Given the description of an element on the screen output the (x, y) to click on. 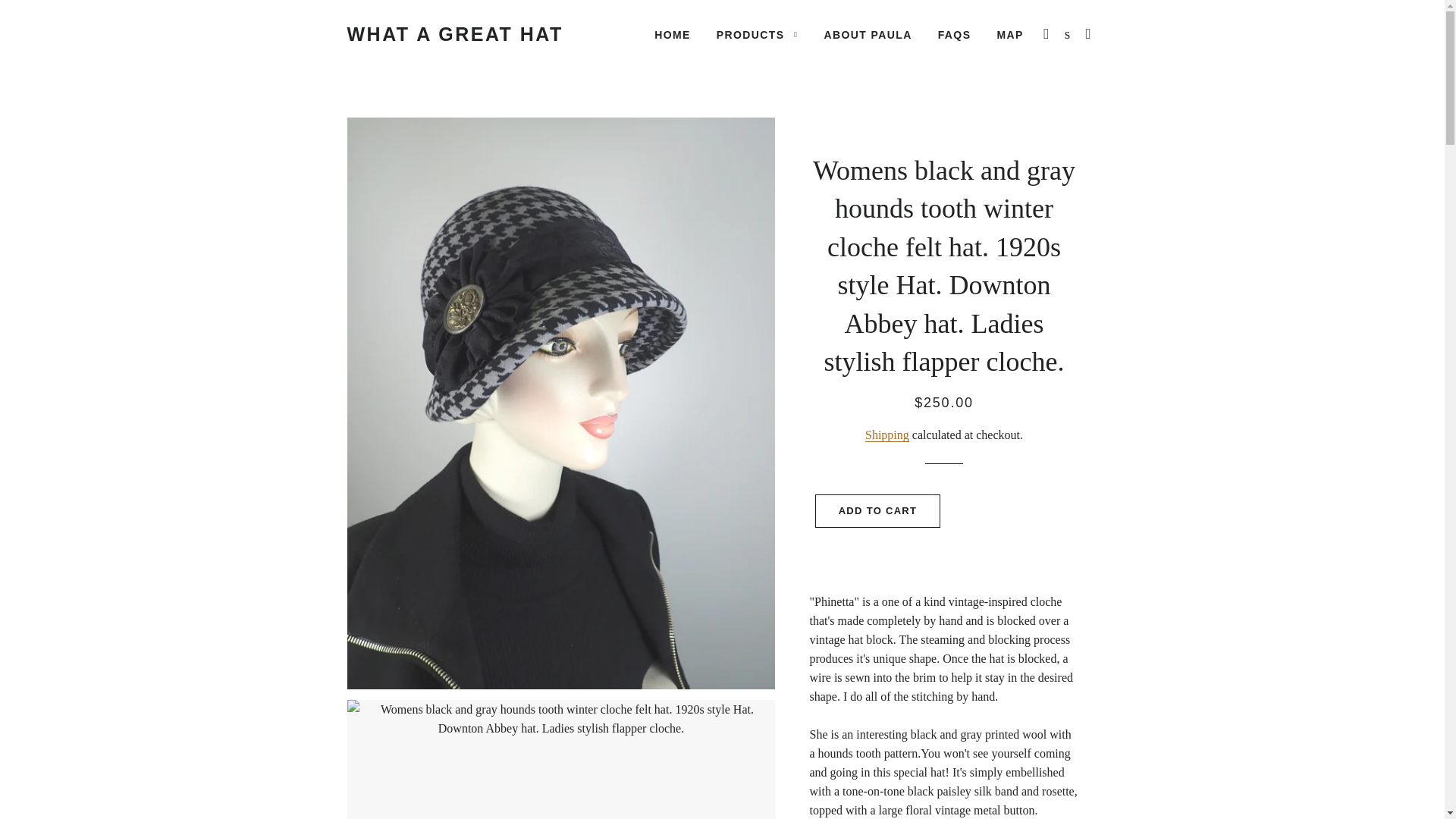
Shipping (886, 435)
WHAT A GREAT HAT (455, 34)
ADD TO CART (877, 510)
ABOUT PAULA (867, 35)
PRODUCTS (756, 35)
FAQS (954, 35)
MAP (1009, 35)
HOME (672, 35)
